Given the description of an element on the screen output the (x, y) to click on. 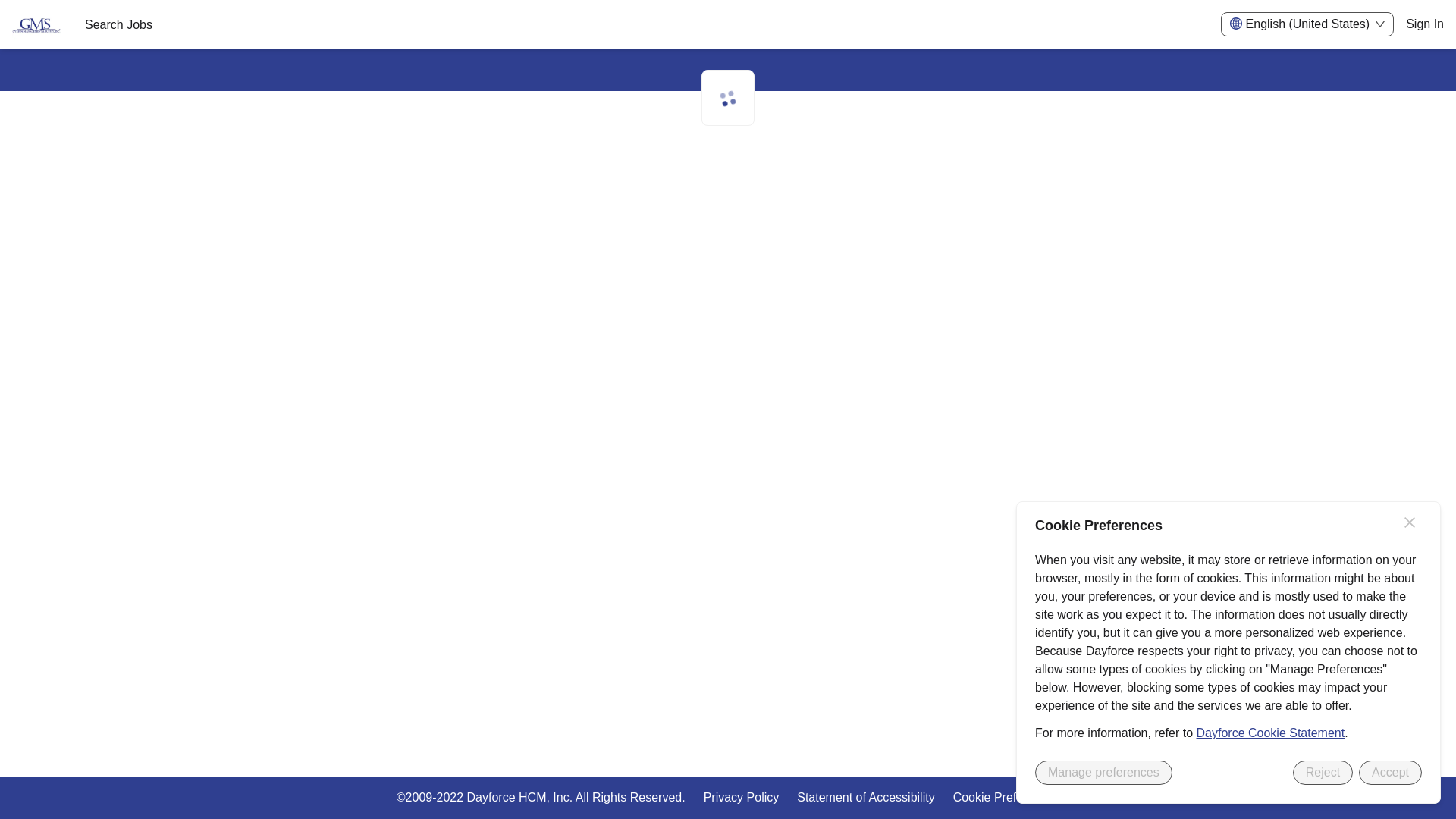
Dayforce Cookie Statement (1270, 732)
Cookie Preferences (1006, 797)
Sign In (1425, 23)
Privacy Policy (740, 797)
Accept (1390, 772)
Search Jobs (118, 24)
Statement of Accessibility (865, 797)
Reject (1322, 772)
Manage preferences (1103, 772)
